Given the description of an element on the screen output the (x, y) to click on. 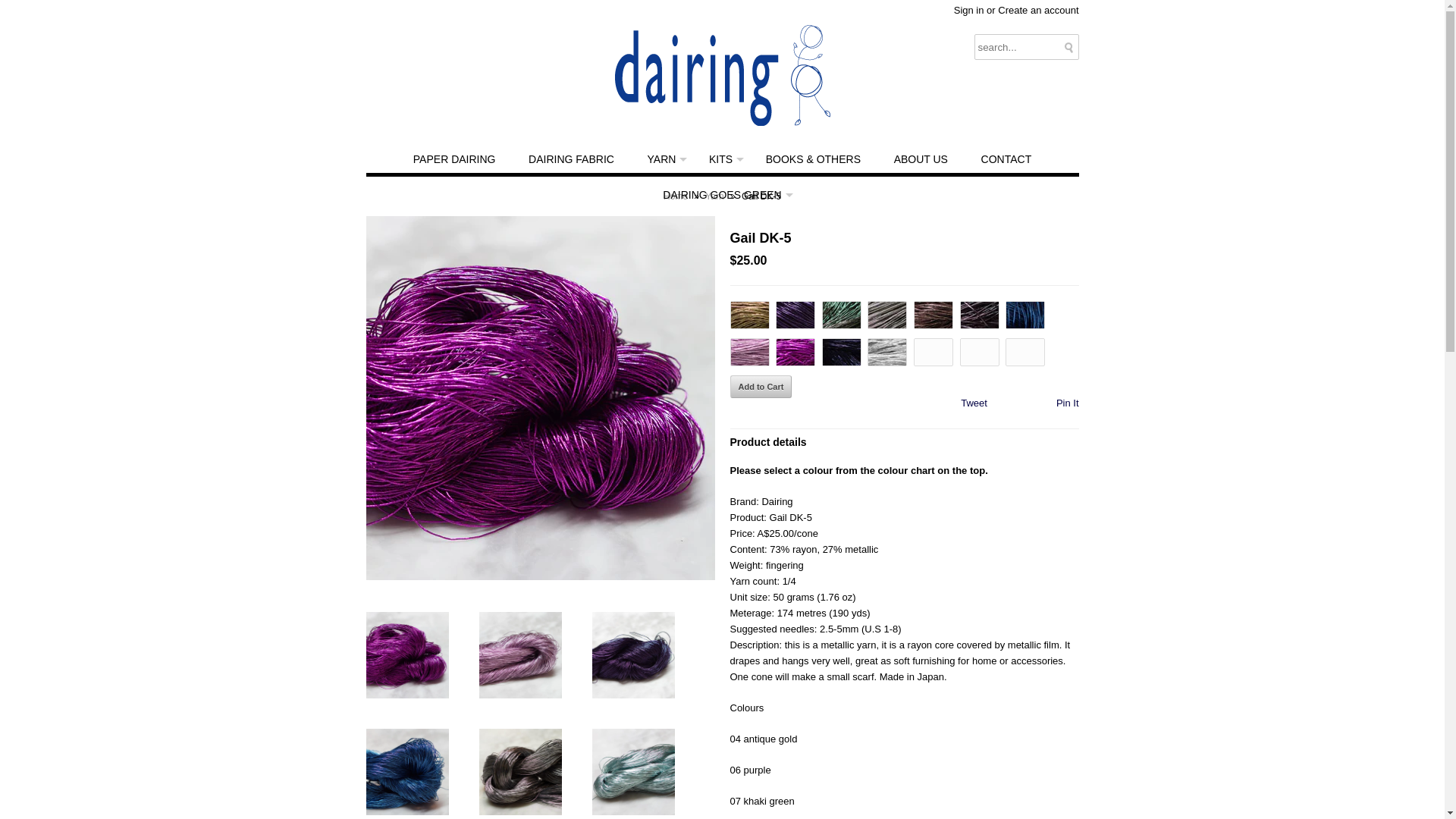
YARN Element type: text (661, 159)
Pin It Element type: text (1067, 402)
ABOUT US Element type: text (920, 159)
Tweet Element type: text (973, 402)
Sign in Element type: text (968, 9)
Create an account Element type: text (1037, 9)
Yarn Element type: text (716, 196)
DAIRING GOES GREEN Element type: text (721, 195)
KITS Element type: text (720, 159)
DAIRING FABRIC Element type: text (571, 159)
BOOKS & OTHERS Element type: text (812, 159)
Add to Cart Element type: text (760, 386)
PAPER DAIRING Element type: text (454, 159)
CONTACT Element type: text (1006, 159)
Home Element type: text (677, 196)
